Given the description of an element on the screen output the (x, y) to click on. 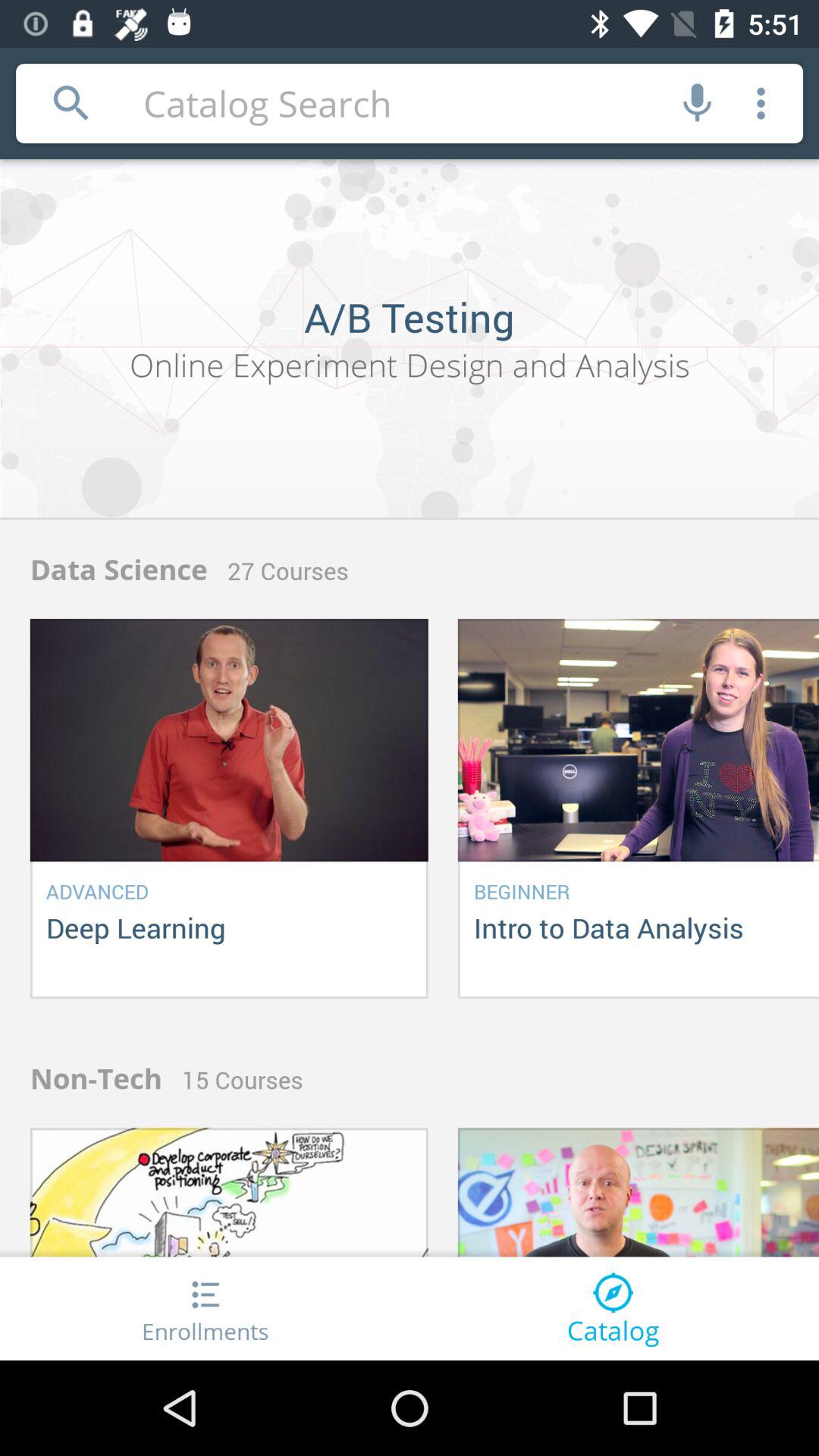
more options (760, 103)
